Given the description of an element on the screen output the (x, y) to click on. 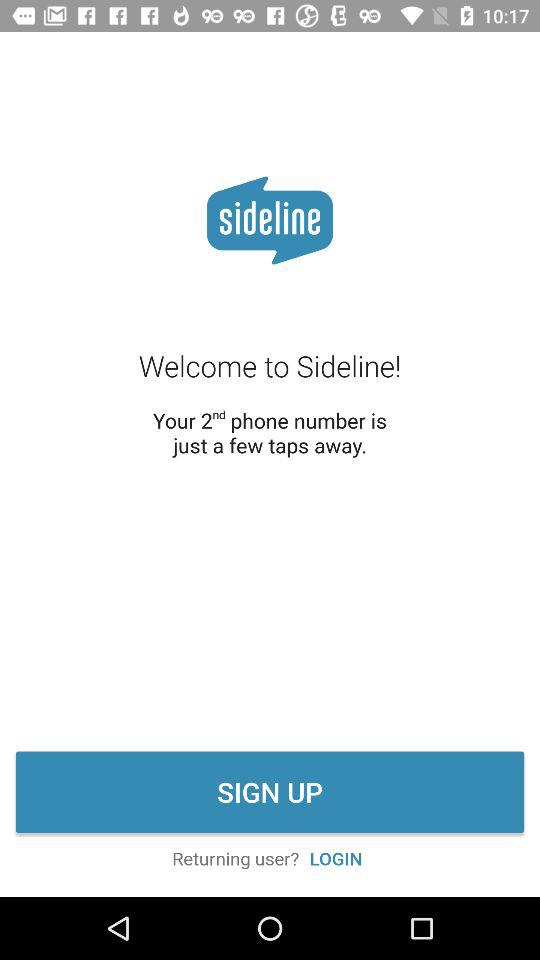
choose item above login icon (269, 791)
